Given the description of an element on the screen output the (x, y) to click on. 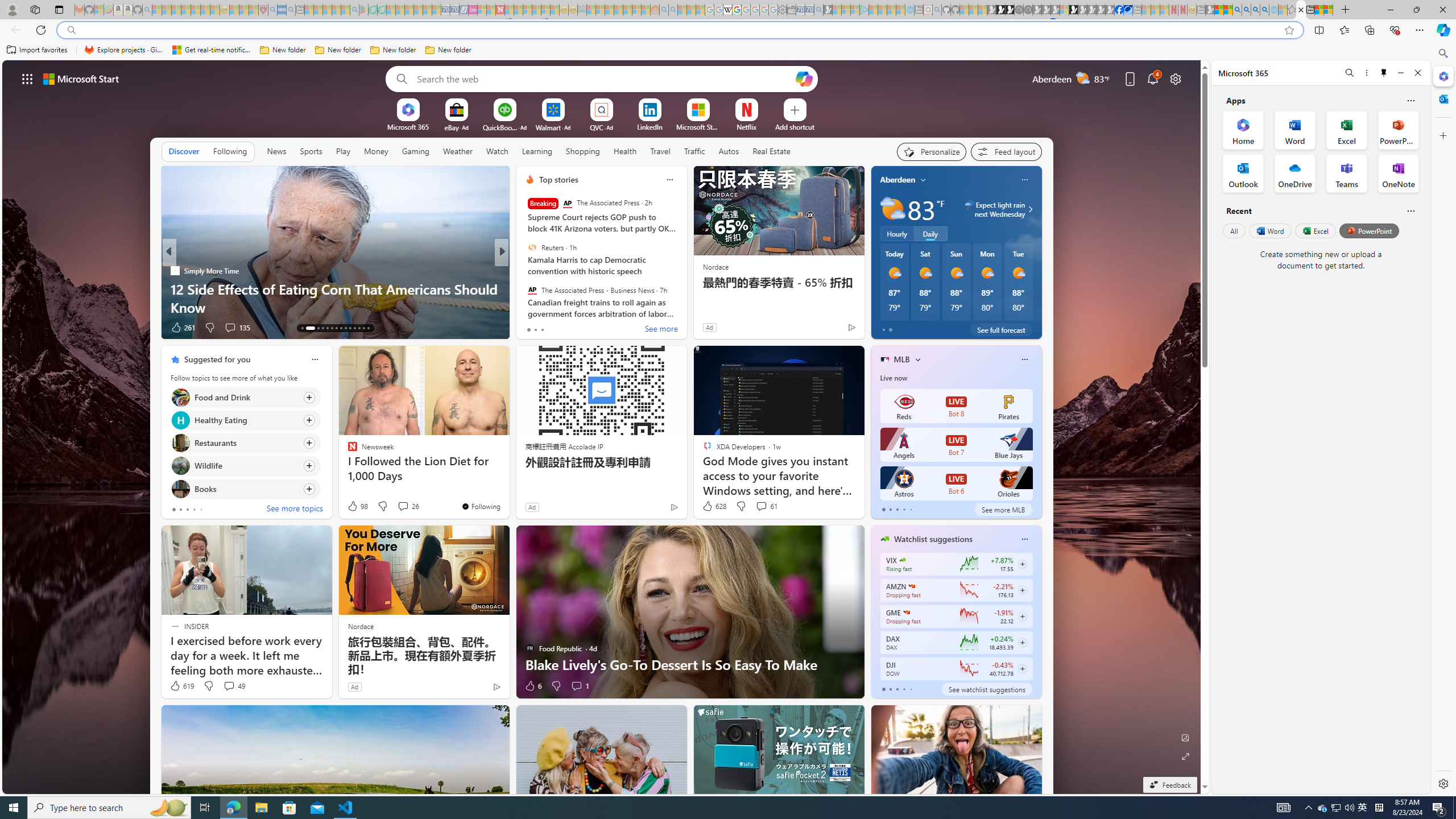
OneDrive Office App (1295, 172)
AutomationID: tab-19 (336, 328)
Click to follow topic Books (245, 488)
Personalize your feed" (931, 151)
6 Like (532, 685)
Sign in to your account - Sleeping (1064, 9)
Angels LIVE Bot 7 Blue Jays (955, 444)
